Given the description of an element on the screen output the (x, y) to click on. 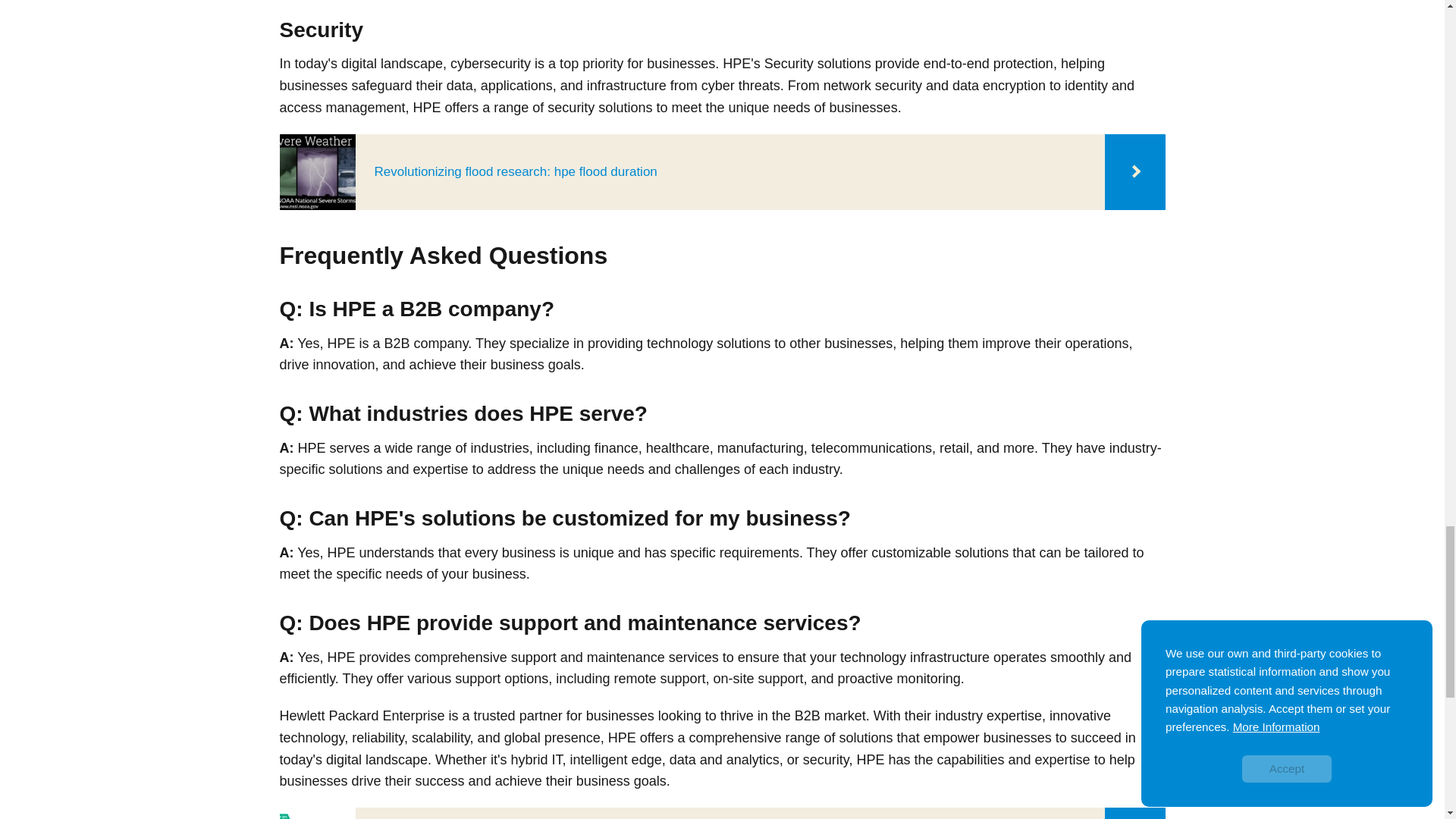
Revolutionizing flood research: hpe flood duration (721, 171)
